Given the description of an element on the screen output the (x, y) to click on. 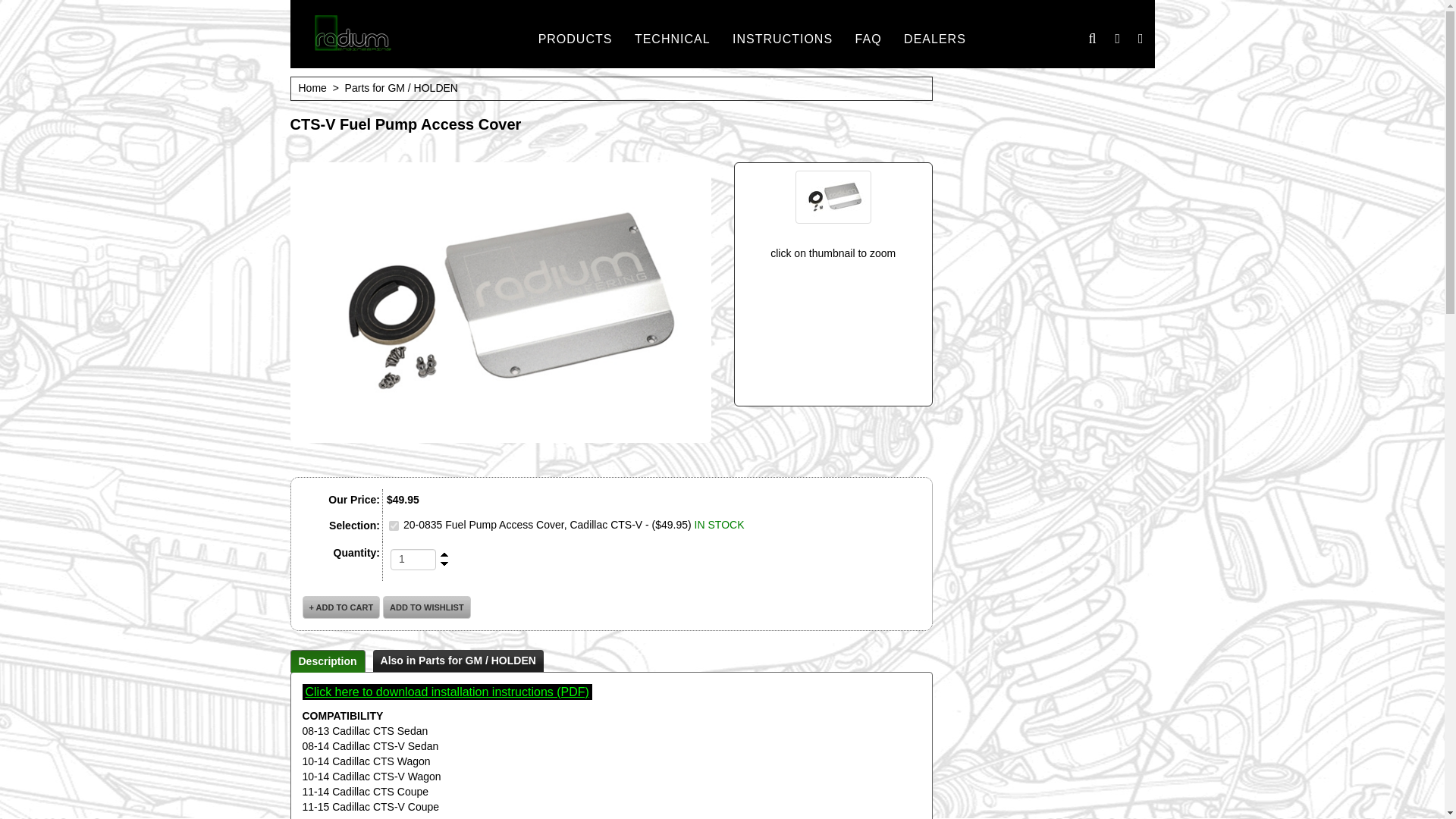
on (393, 525)
TECHNICAL (672, 39)
INSTRUCTIONS (782, 39)
FAQ (869, 39)
1 (412, 559)
Home (312, 87)
Add to Wishlist (426, 607)
Description (327, 661)
CTS-V Fuel Pump Access Cover (832, 196)
PRODUCTS (575, 39)
CTS-V Fuel Pump Access Cover (499, 302)
DEALERS (935, 39)
Add to Wishlist (426, 607)
